Given the description of an element on the screen output the (x, y) to click on. 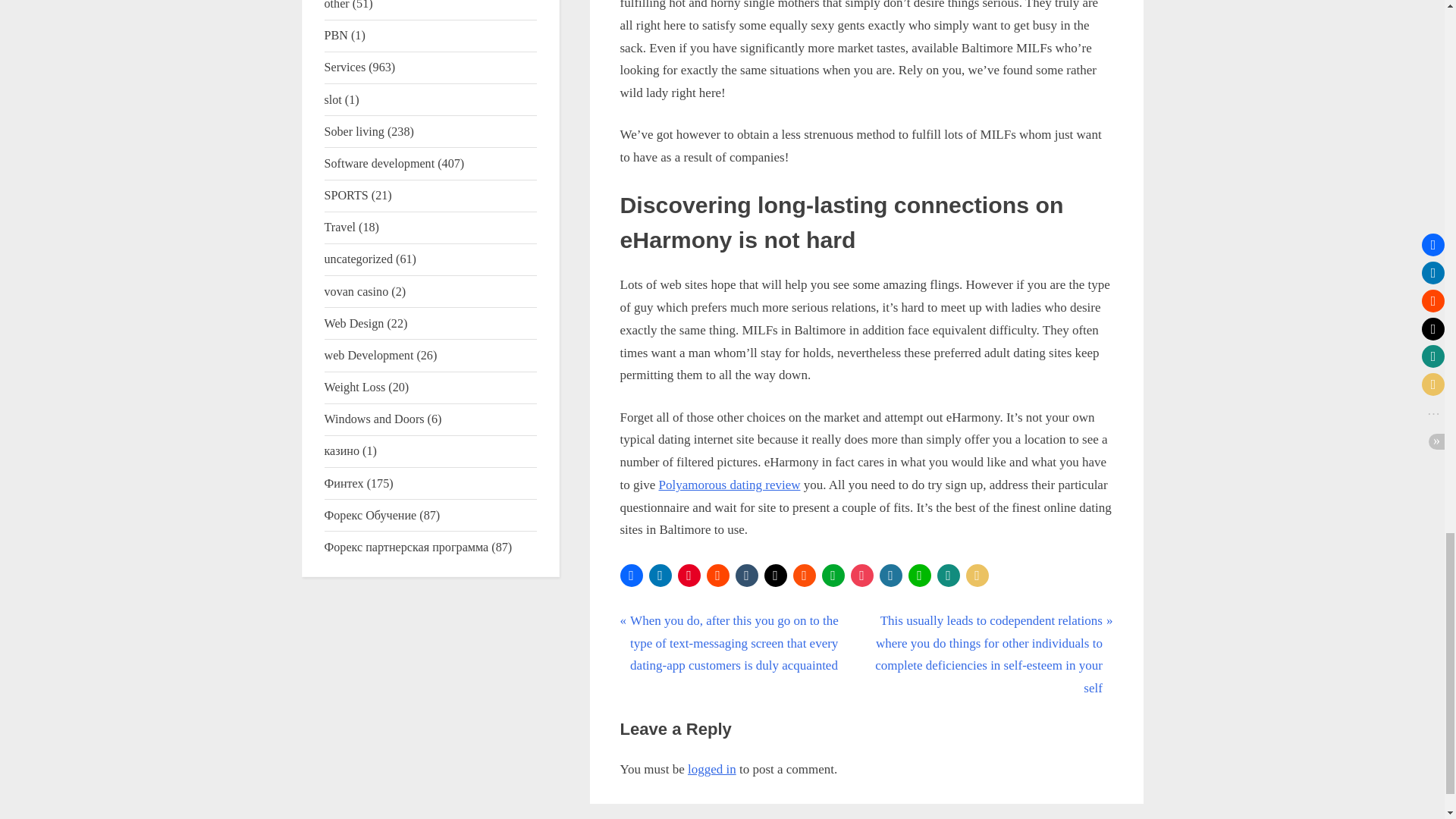
logged in (711, 769)
Polyamorous dating review (728, 484)
